Given the description of an element on the screen output the (x, y) to click on. 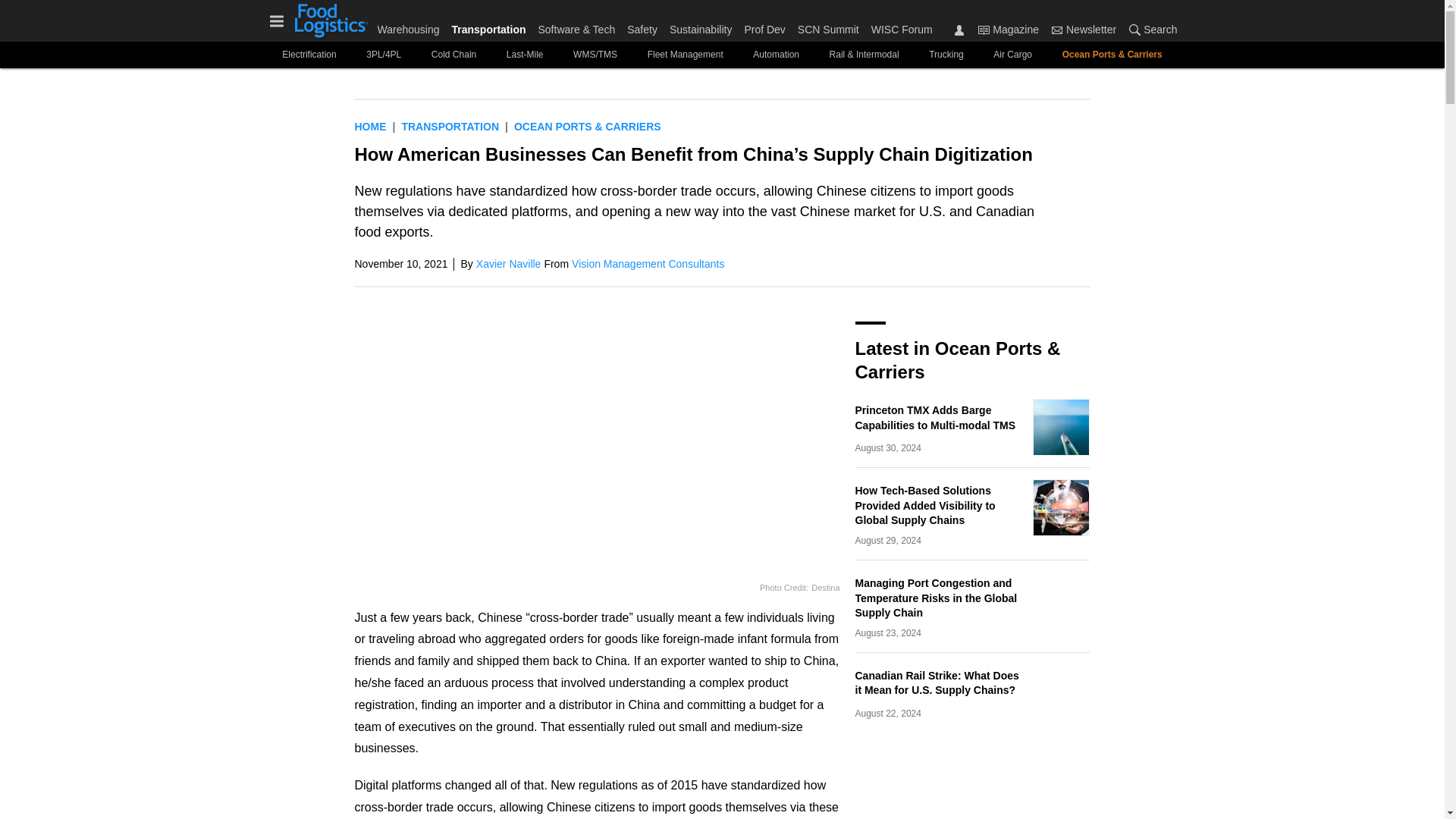
Warehousing (411, 26)
Fleet Management (685, 54)
Air Cargo (1013, 54)
Newsletter (1056, 29)
Search (1134, 29)
Prof Dev (764, 26)
Last-Mile (524, 54)
WISC Forum (898, 26)
SCN Summit (828, 26)
Magazine (1008, 29)
